Given the description of an element on the screen output the (x, y) to click on. 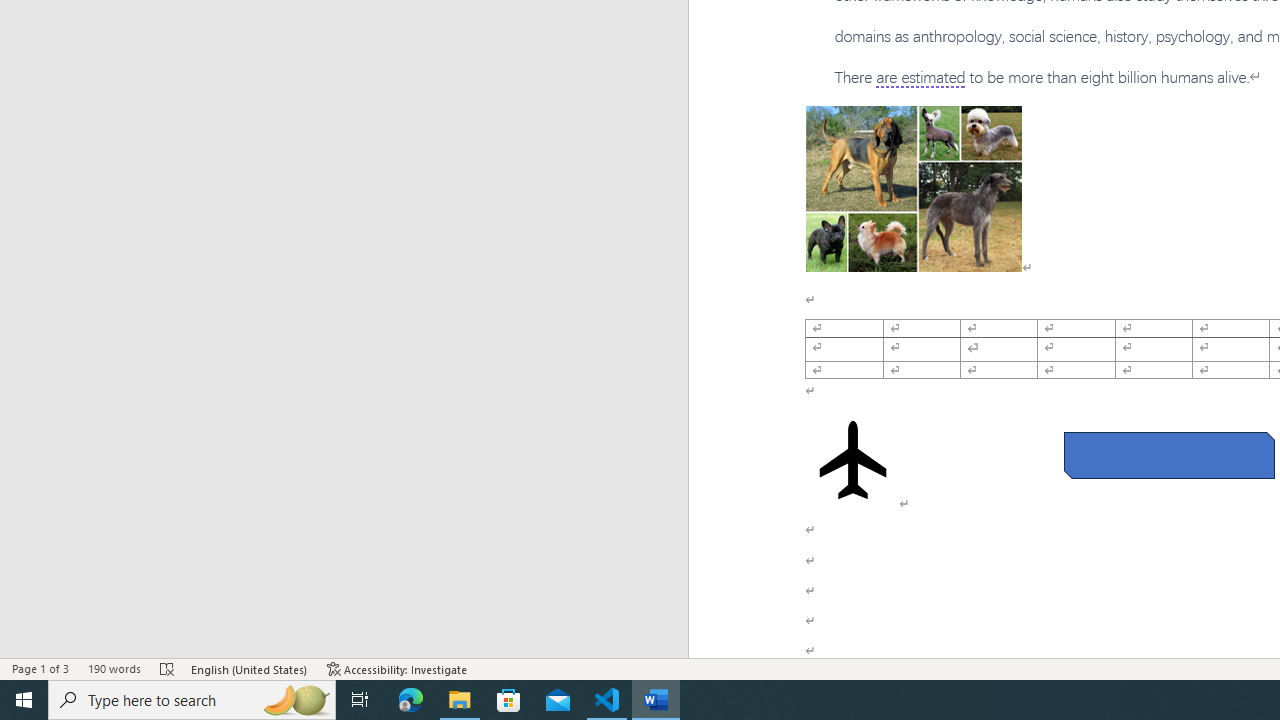
Page Number Page 1 of 3 (39, 668)
Airplane with solid fill (852, 459)
Rectangle: Diagonal Corners Snipped 2 (1168, 455)
Accessibility Checker Accessibility: Investigate (397, 668)
Language English (United States) (250, 668)
Morphological variation in six dogs (913, 188)
Spelling and Grammar Check Errors (168, 668)
